Given the description of an element on the screen output the (x, y) to click on. 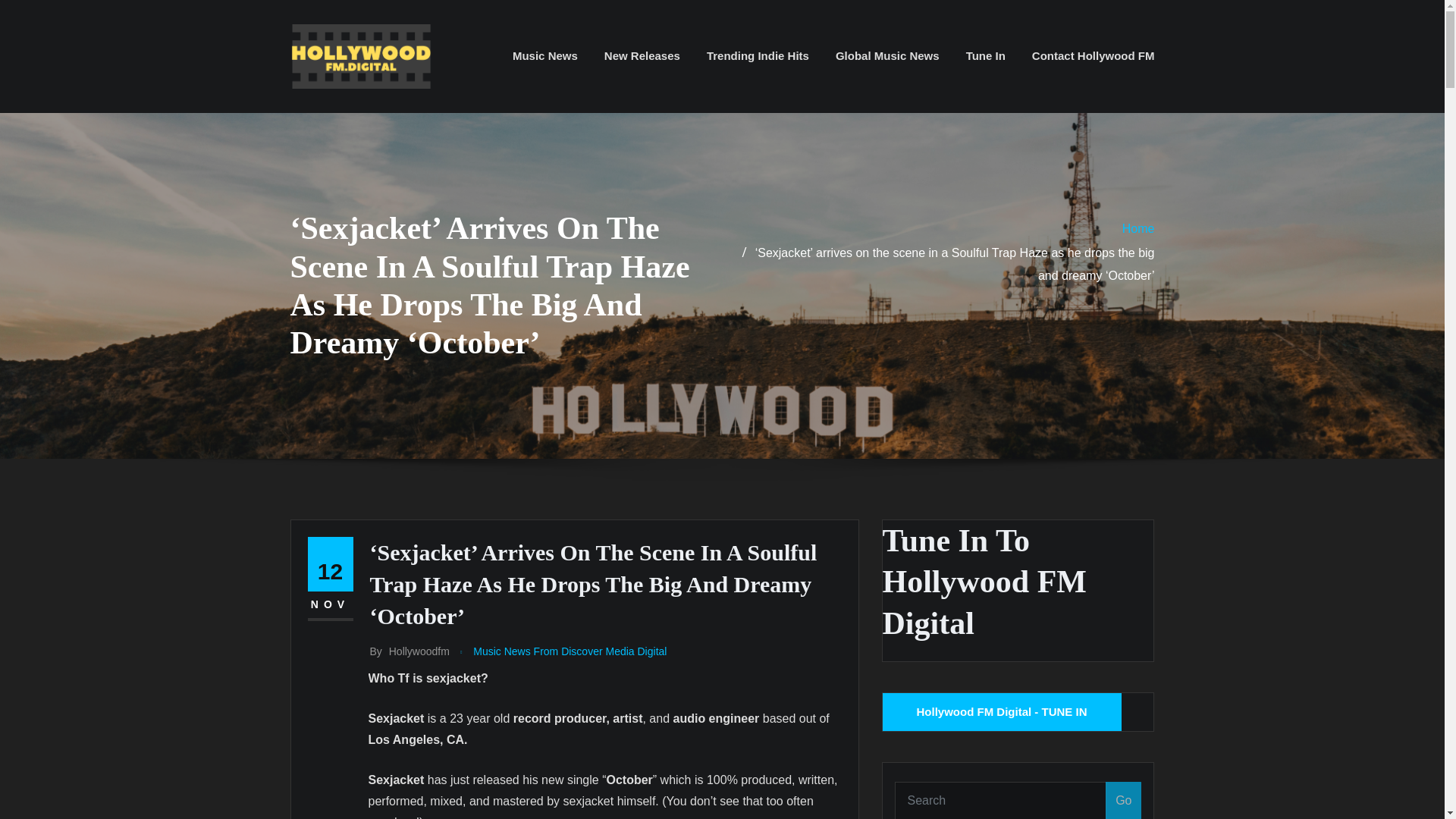
Tune In (986, 55)
Contact Hollywood FM (1093, 55)
Go (1123, 800)
By Hollywoodfm (409, 651)
Trending Indie Hits (757, 55)
Hollywood FM Digital - TUNE IN (1001, 711)
Music News From Discover Media Digital (569, 651)
New Releases (641, 55)
Global Music News (887, 55)
Home (1138, 228)
Music News (545, 55)
